Given the description of an element on the screen output the (x, y) to click on. 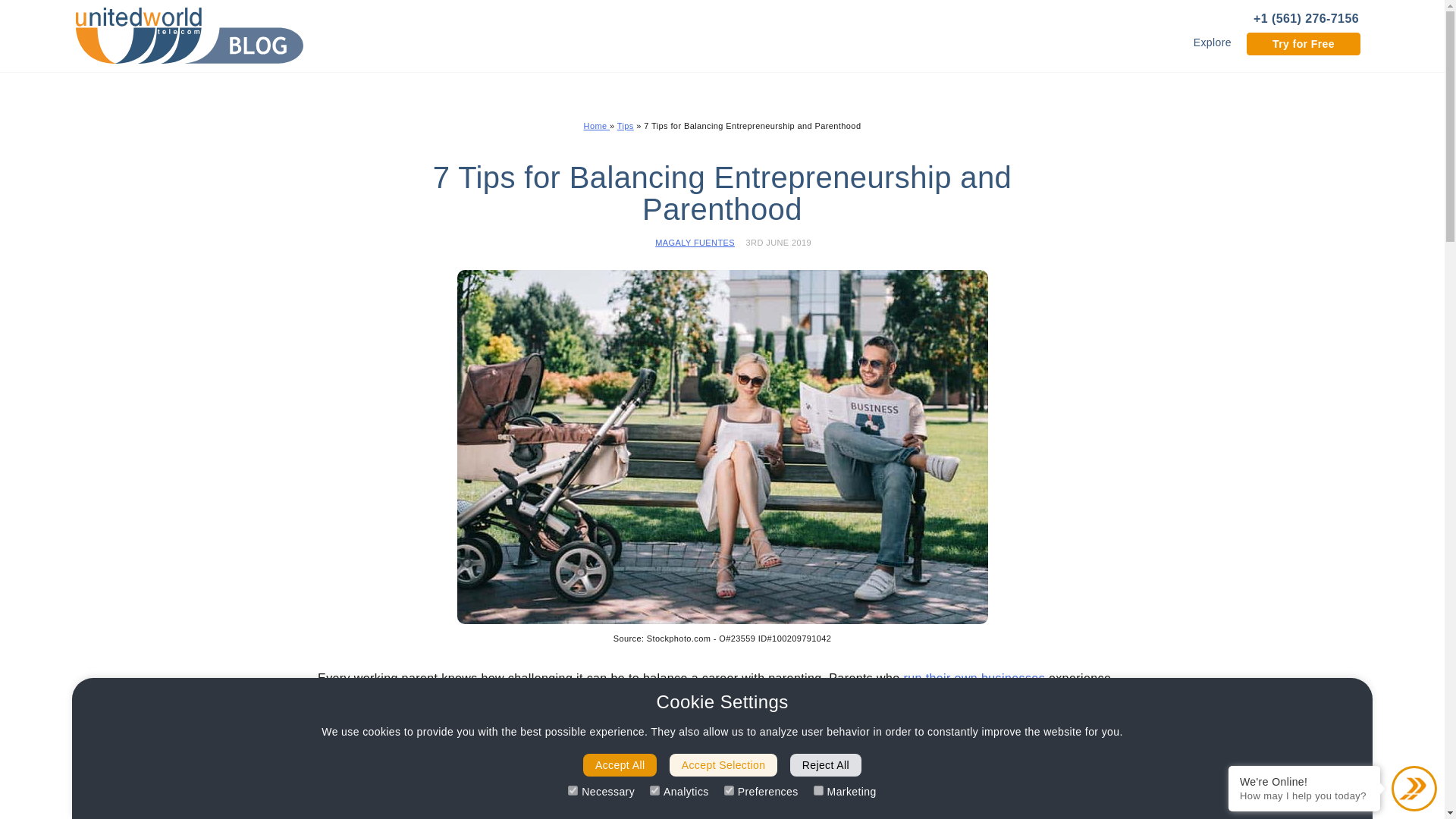
Try for Free (1302, 43)
Tips (625, 125)
Explore (1212, 42)
We're Online! (1304, 781)
run their own businesses (973, 677)
Posts by Magaly Fuentes (695, 242)
Necessary (572, 790)
Analytics (654, 790)
How may I help you today? (1304, 795)
Marketing (818, 790)
Home (596, 125)
Preferences (728, 790)
Try for Free (1302, 42)
MAGALY FUENTES (695, 242)
